Given the description of an element on the screen output the (x, y) to click on. 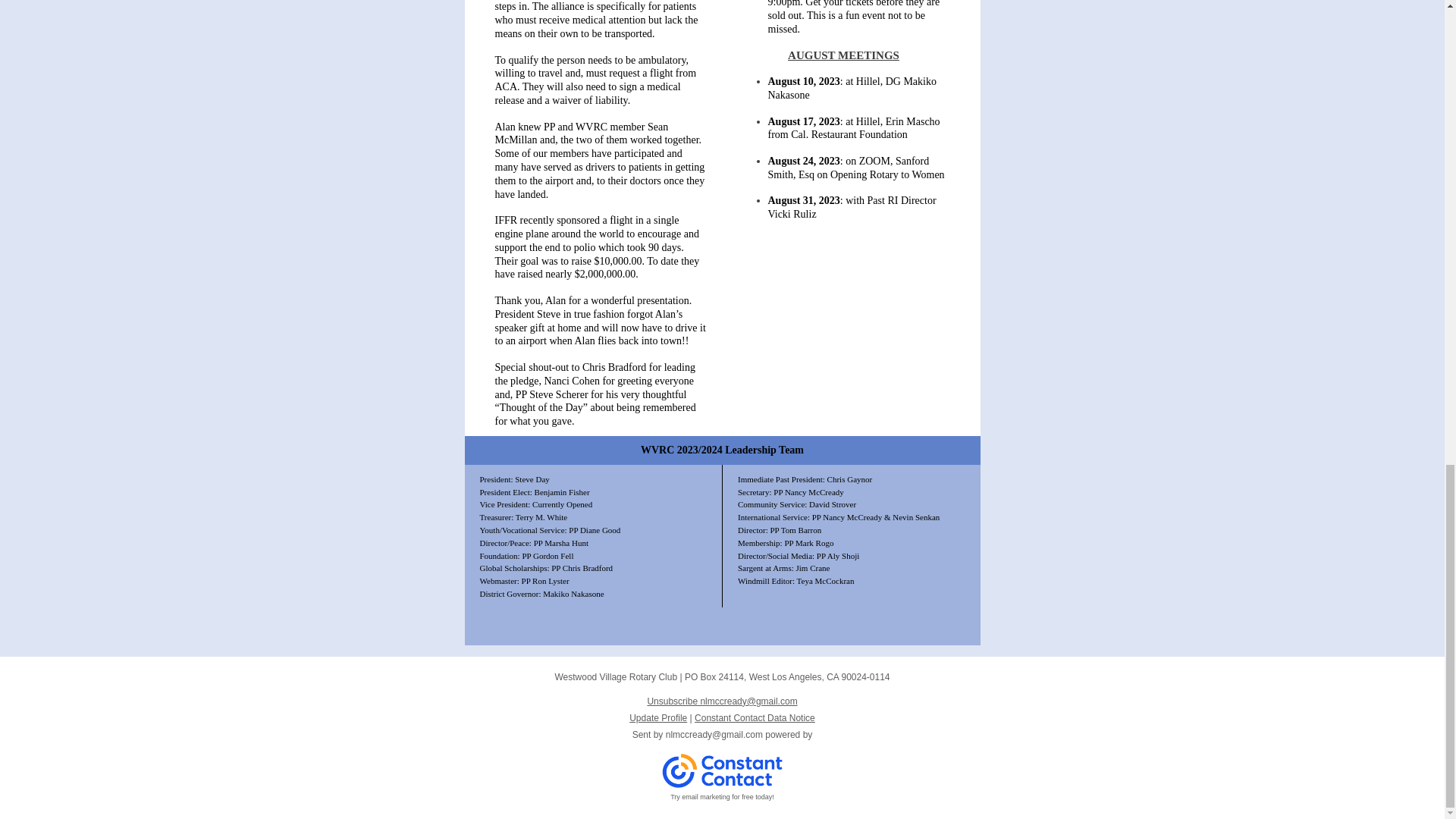
Constant Contact Data Notice (754, 717)
Update Profile (657, 717)
Try email marketing for free today! (721, 796)
